Given the description of an element on the screen output the (x, y) to click on. 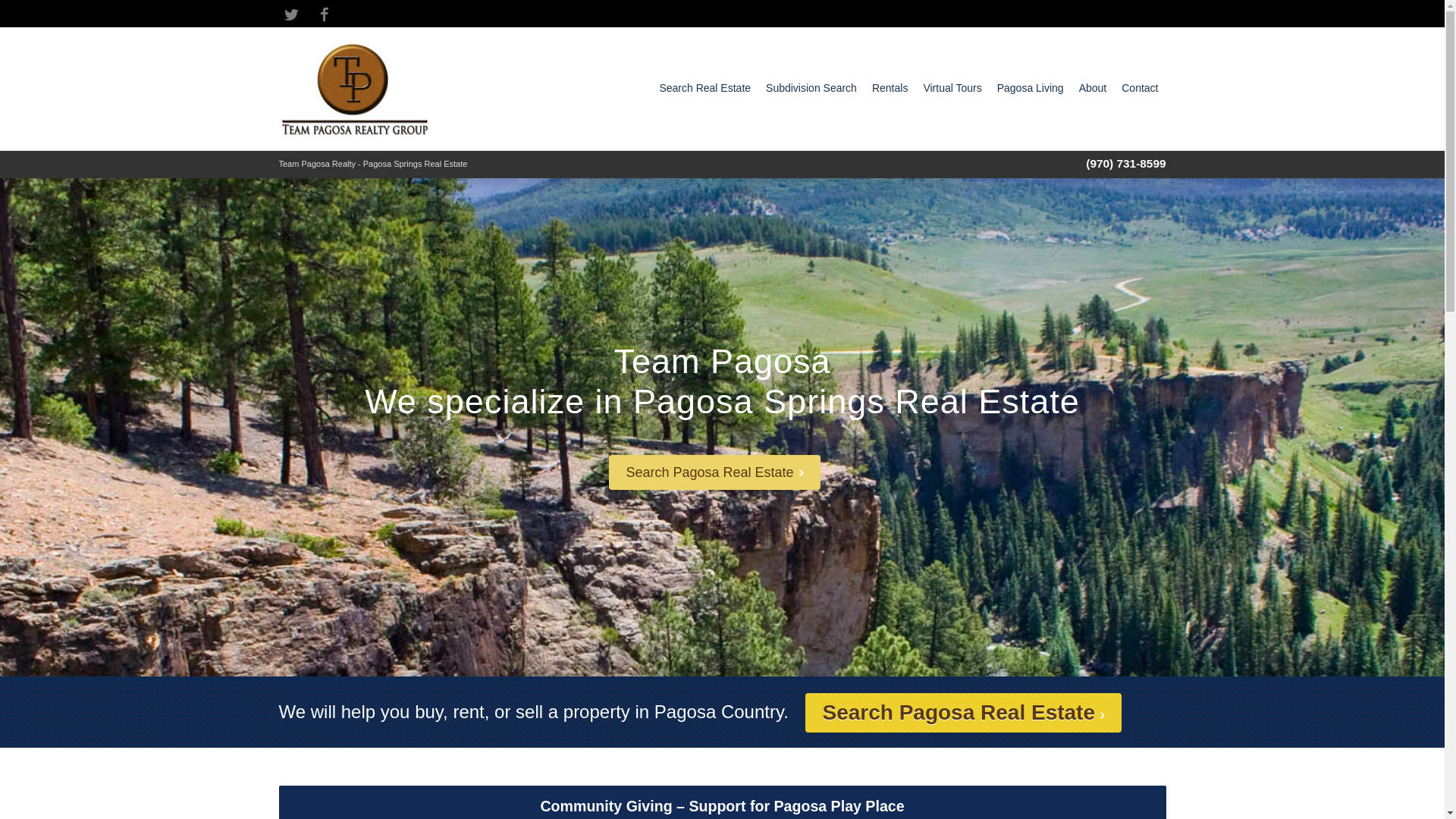
Pagosa Living (1030, 87)
Search Real Estate (705, 87)
Facebook (324, 14)
Twitter (290, 14)
Contact (1139, 87)
Virtual Tours (952, 87)
Rentals (889, 87)
Subdivision Search (811, 87)
